Given the description of an element on the screen output the (x, y) to click on. 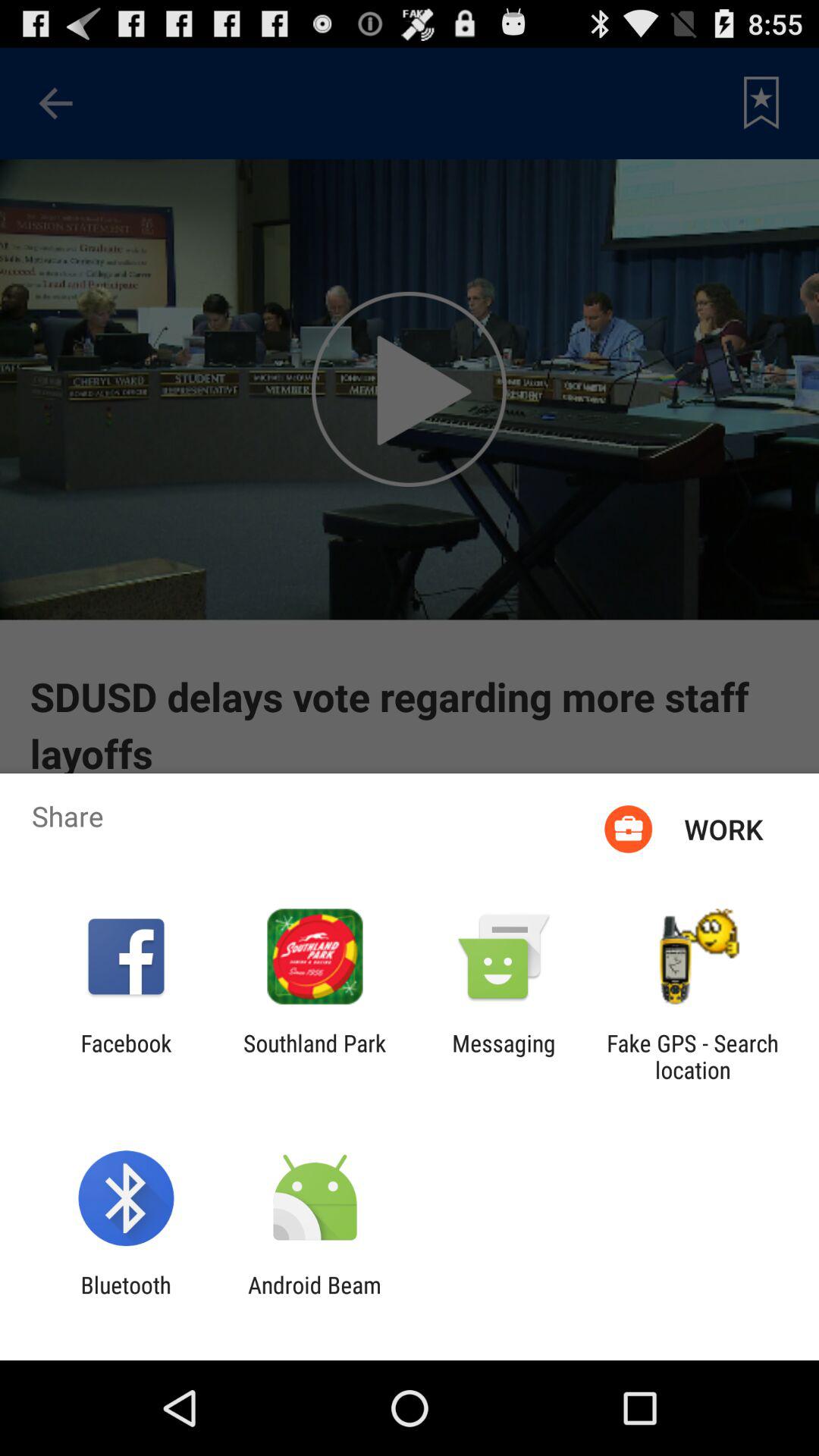
choose the southland park app (314, 1056)
